Given the description of an element on the screen output the (x, y) to click on. 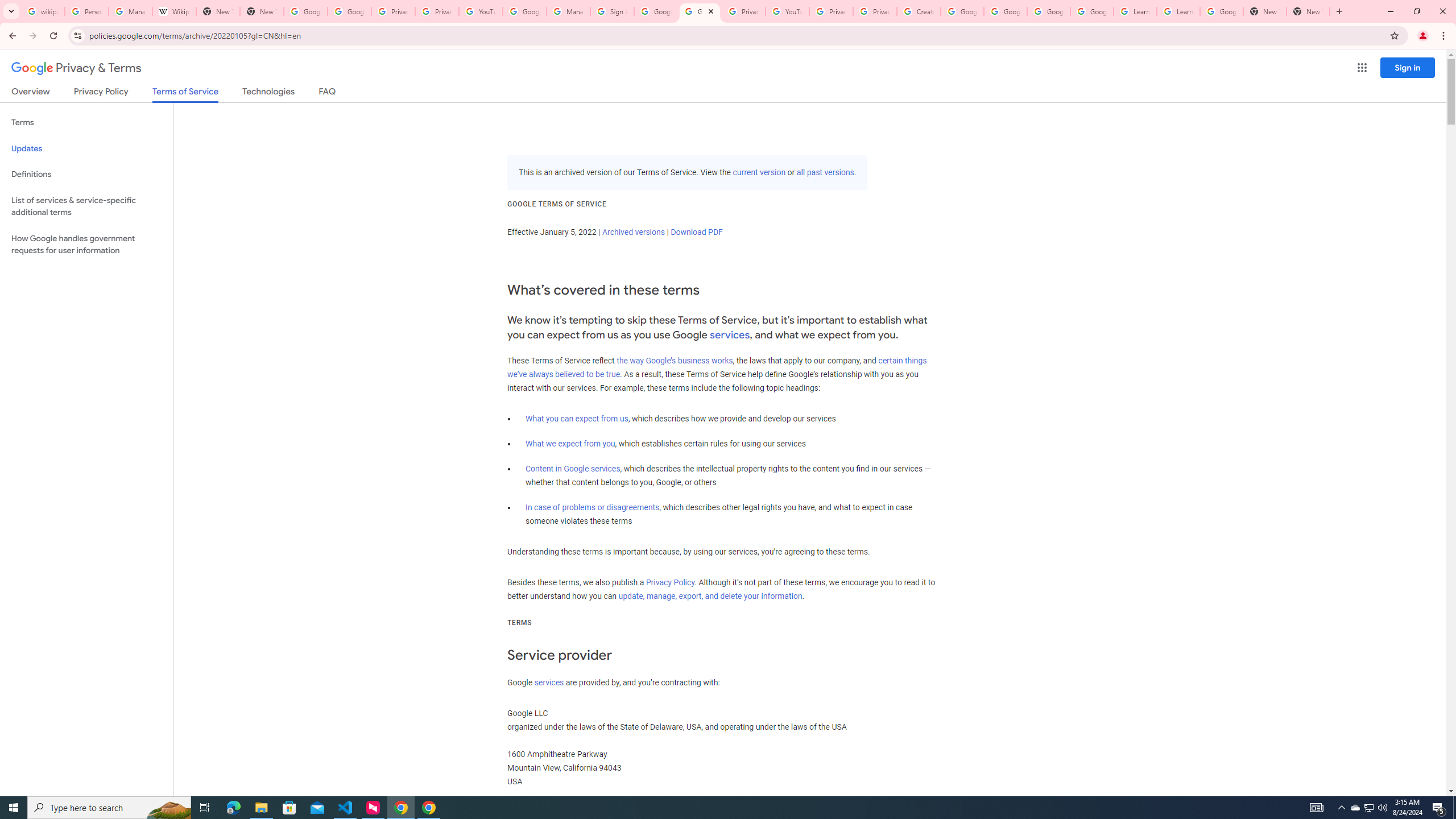
Manage your Location History - Google Search Help (130, 11)
Google Drive: Sign-in (349, 11)
Google Account Help (1005, 11)
